Given the description of an element on the screen output the (x, y) to click on. 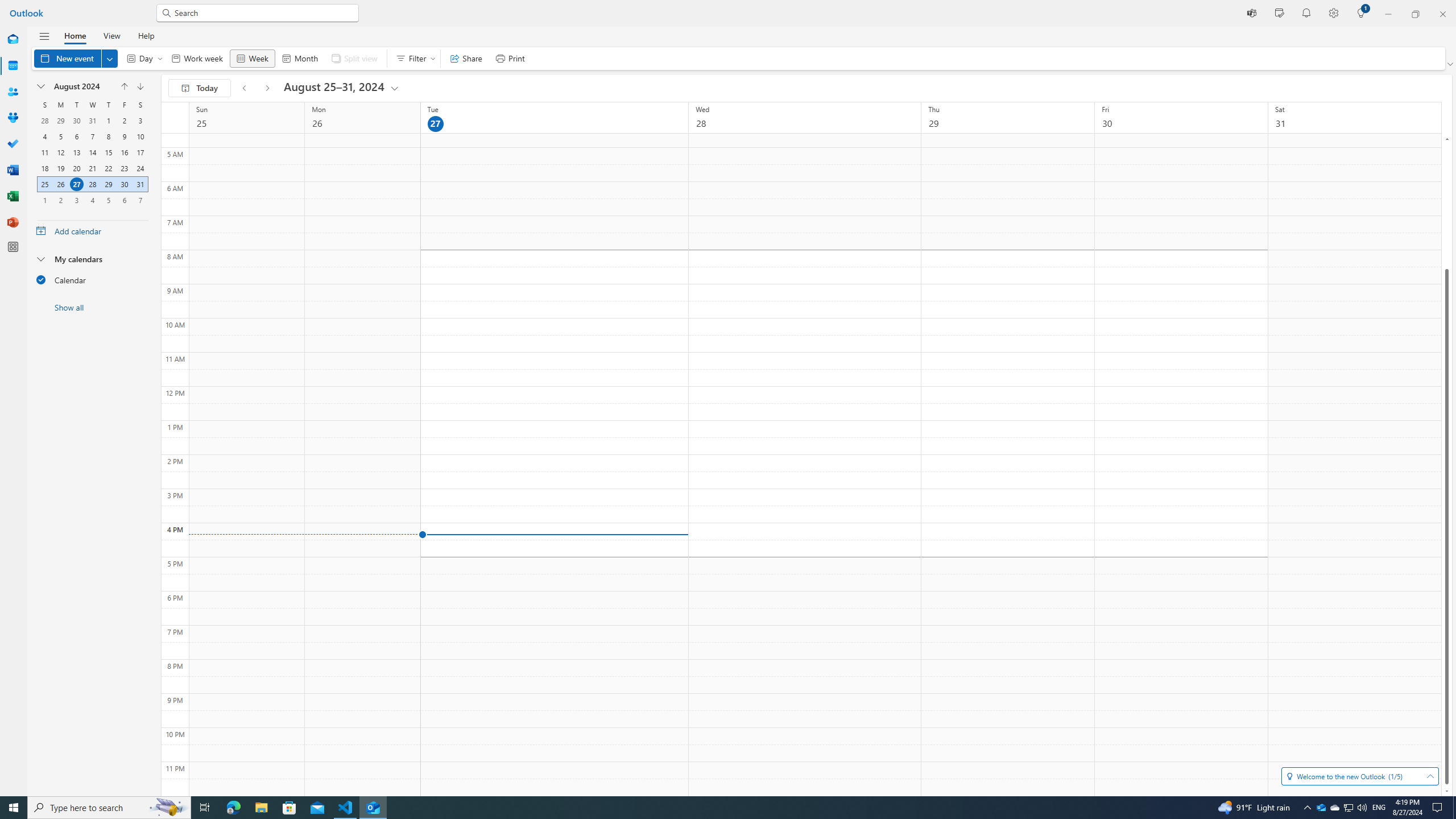
22, August, 2024 (108, 168)
6, September, 2024 (124, 200)
28, August, 2024 (92, 183)
Class: weekRow-292 (92, 200)
18, August, 2024 (44, 168)
2, August, 2024 (124, 120)
3, August, 2024 (140, 120)
